Given the description of an element on the screen output the (x, y) to click on. 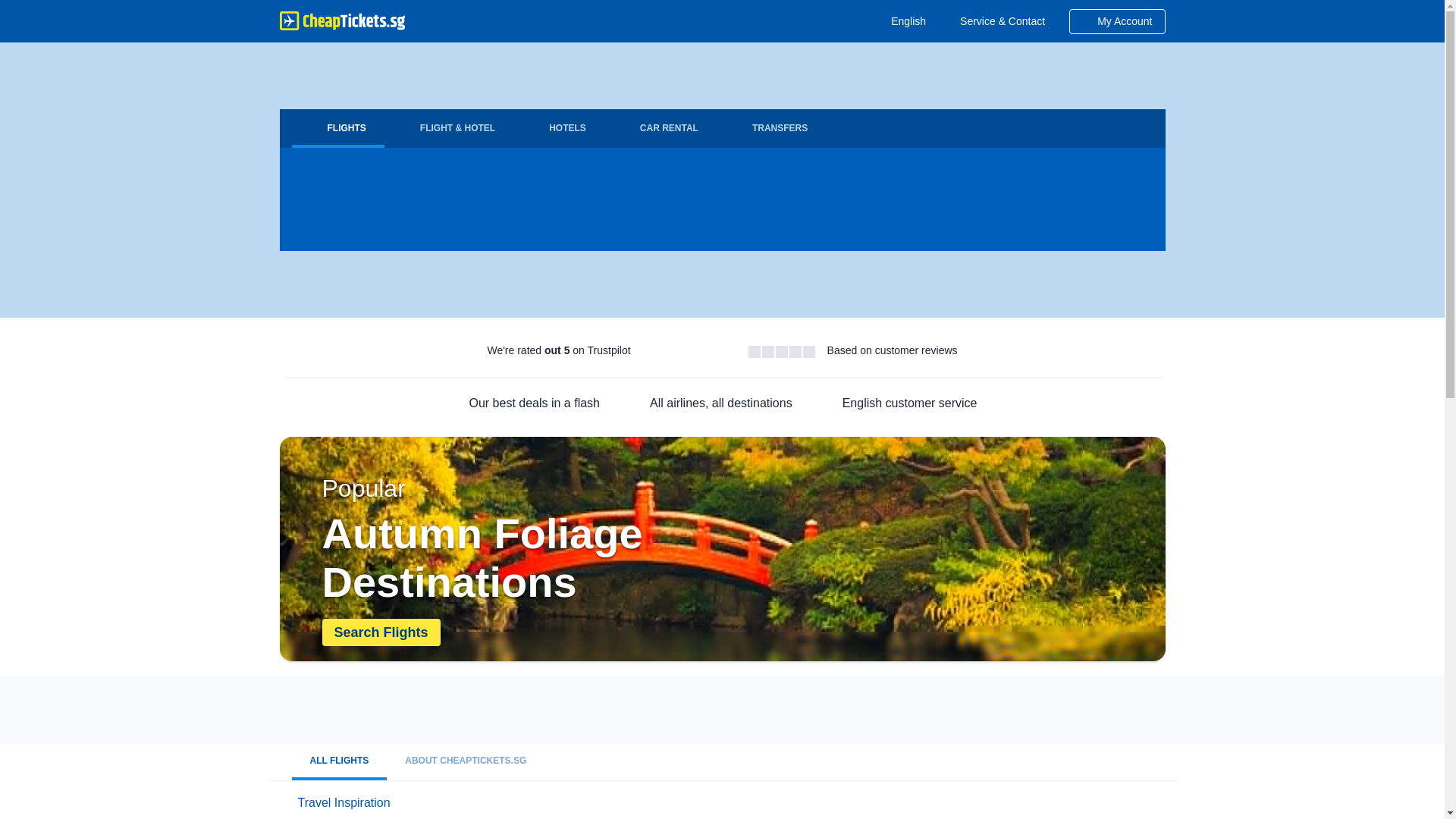
Search Flights (380, 632)
English (902, 21)
Based on customer reviews (892, 350)
